Given the description of an element on the screen output the (x, y) to click on. 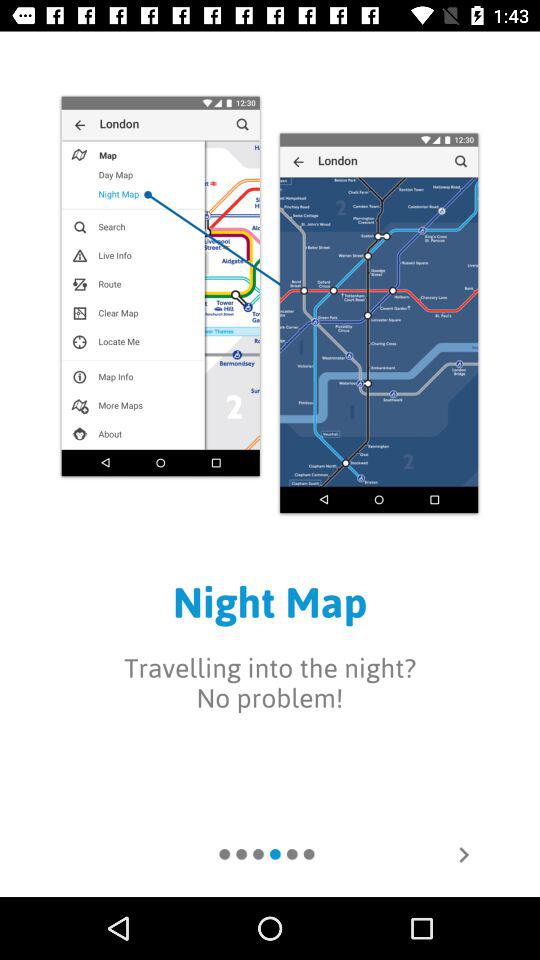
look at next page (463, 855)
